Given the description of an element on the screen output the (x, y) to click on. 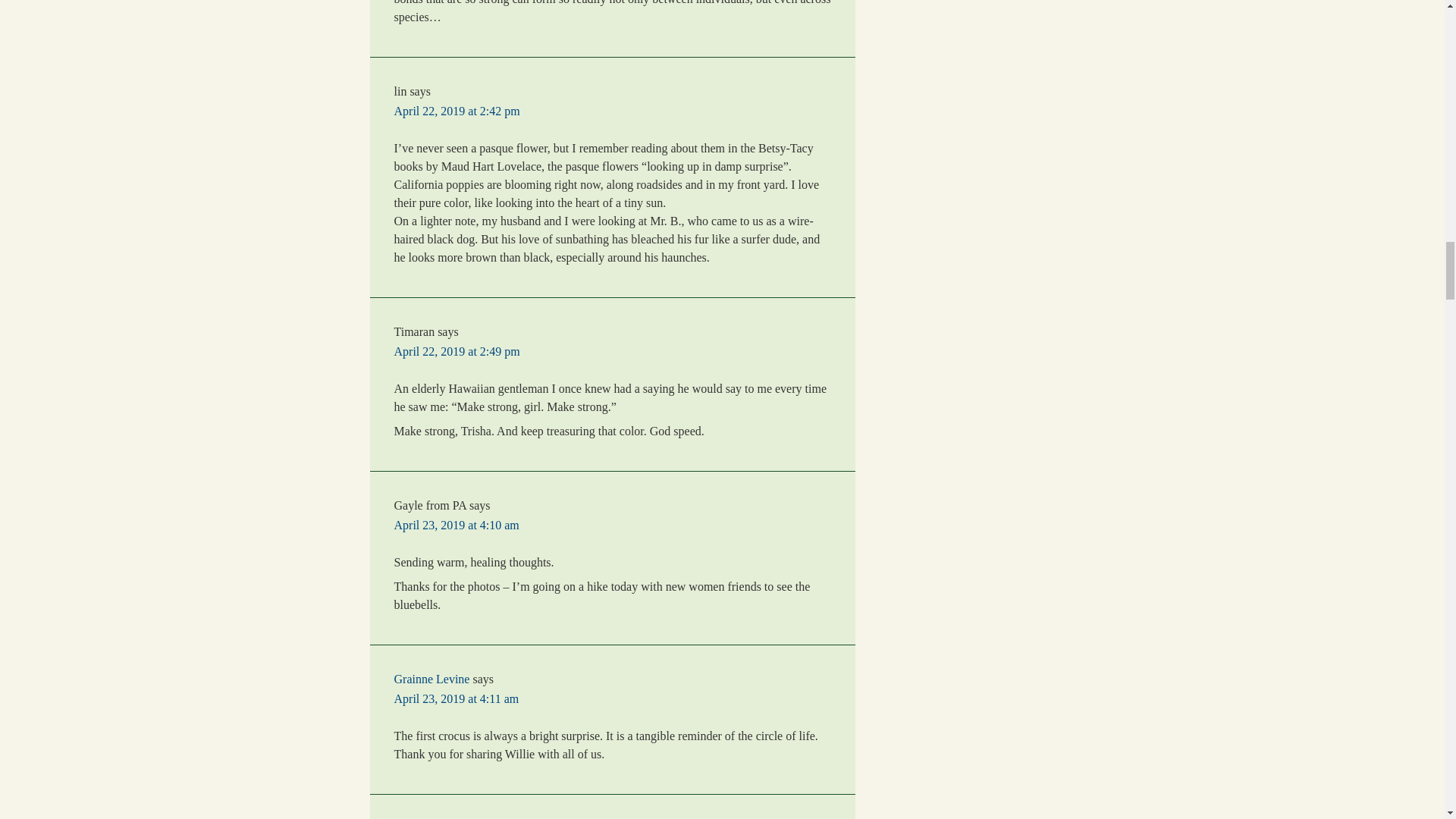
April 22, 2019 at 2:49 pm (456, 350)
April 23, 2019 at 4:10 am (456, 524)
Grainne Levine (432, 678)
April 22, 2019 at 2:42 pm (456, 110)
April 23, 2019 at 4:11 am (456, 698)
